Given the description of an element on the screen output the (x, y) to click on. 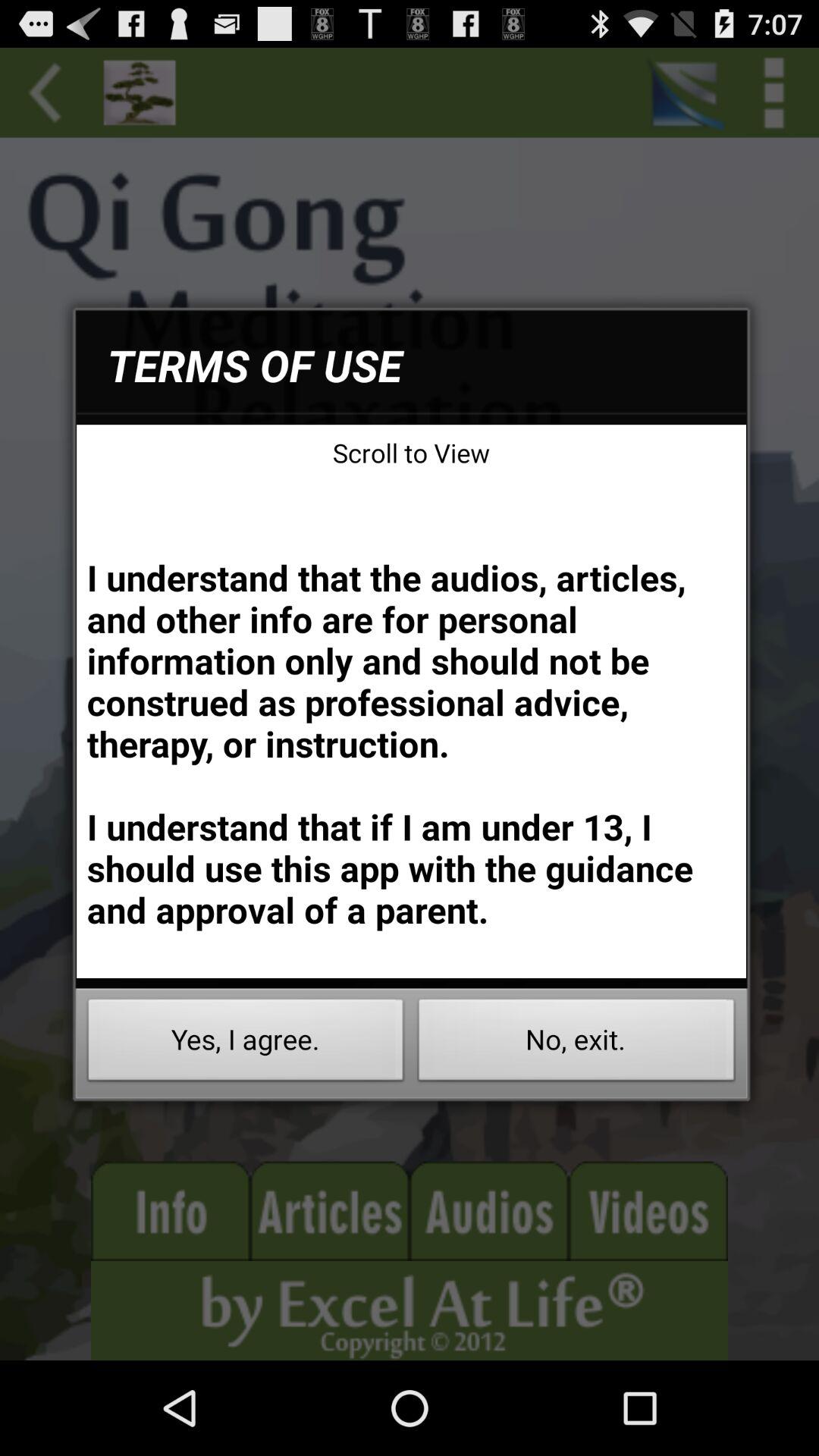
click no, exit. item (576, 1044)
